Given the description of an element on the screen output the (x, y) to click on. 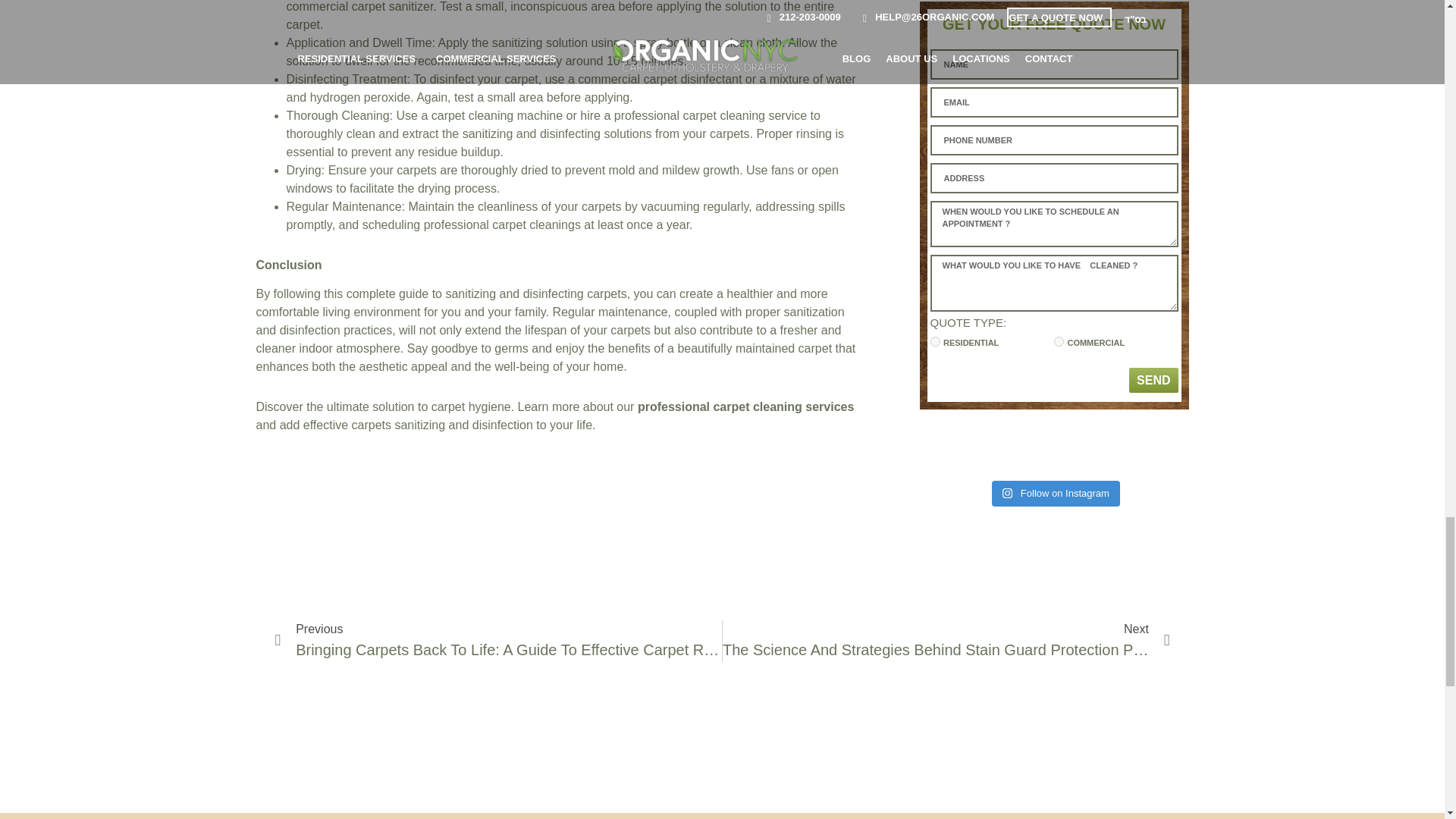
Commercial (1059, 341)
Residential (934, 341)
